Given the description of an element on the screen output the (x, y) to click on. 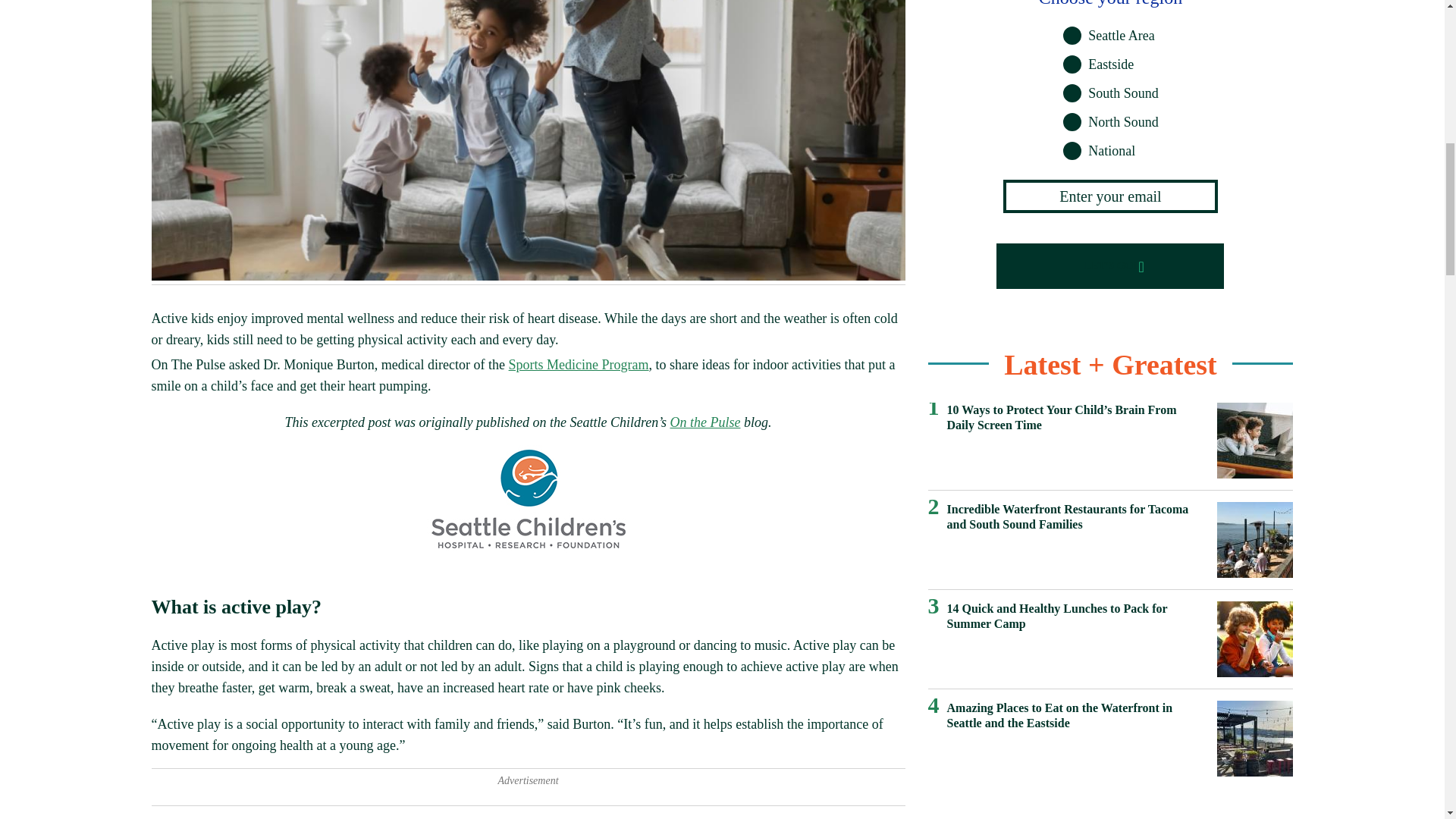
Let's Go! (1109, 266)
